Given the description of an element on the screen output the (x, y) to click on. 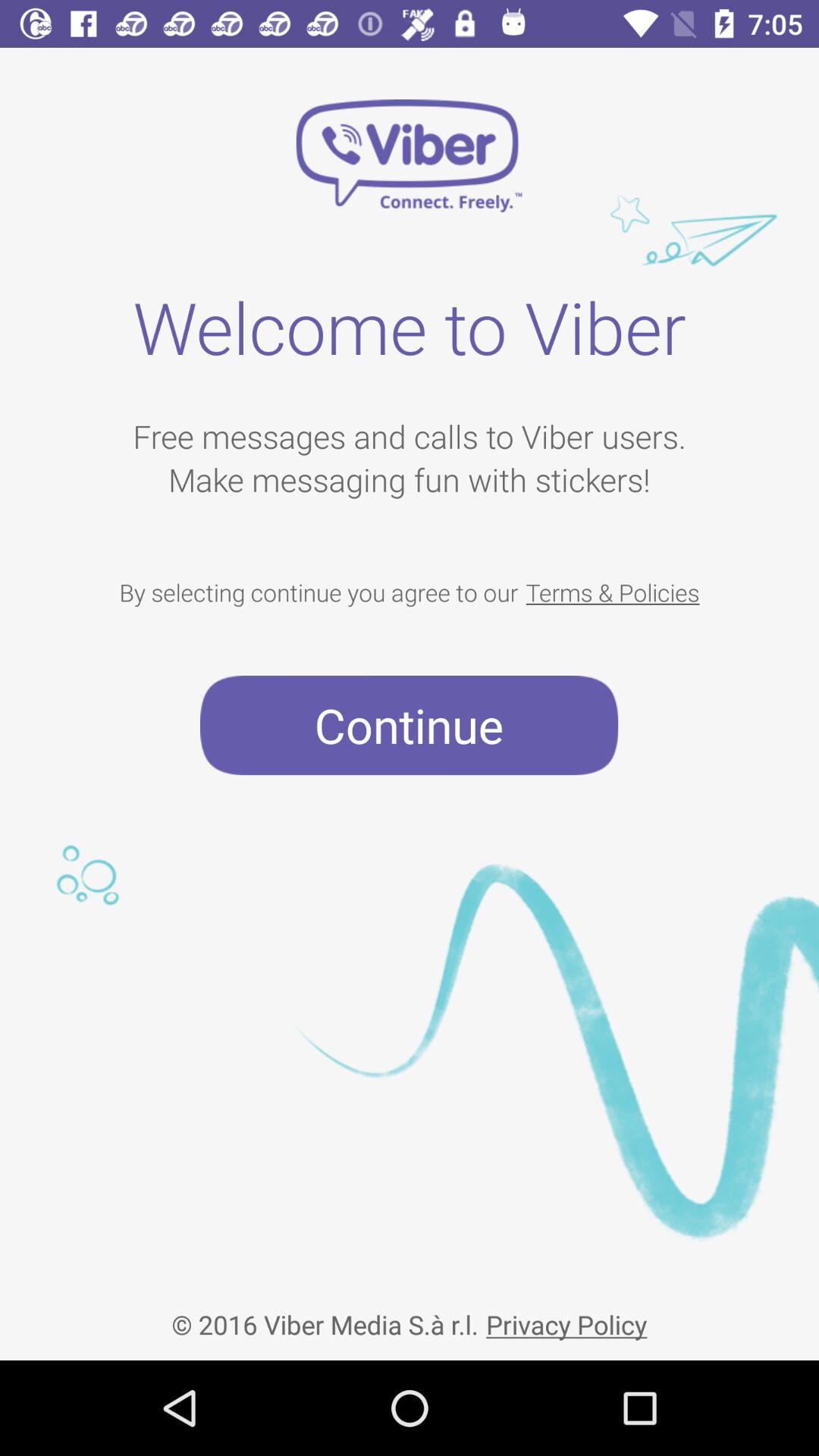
tap the icon to the right of 2016 viber media (566, 1312)
